Given the description of an element on the screen output the (x, y) to click on. 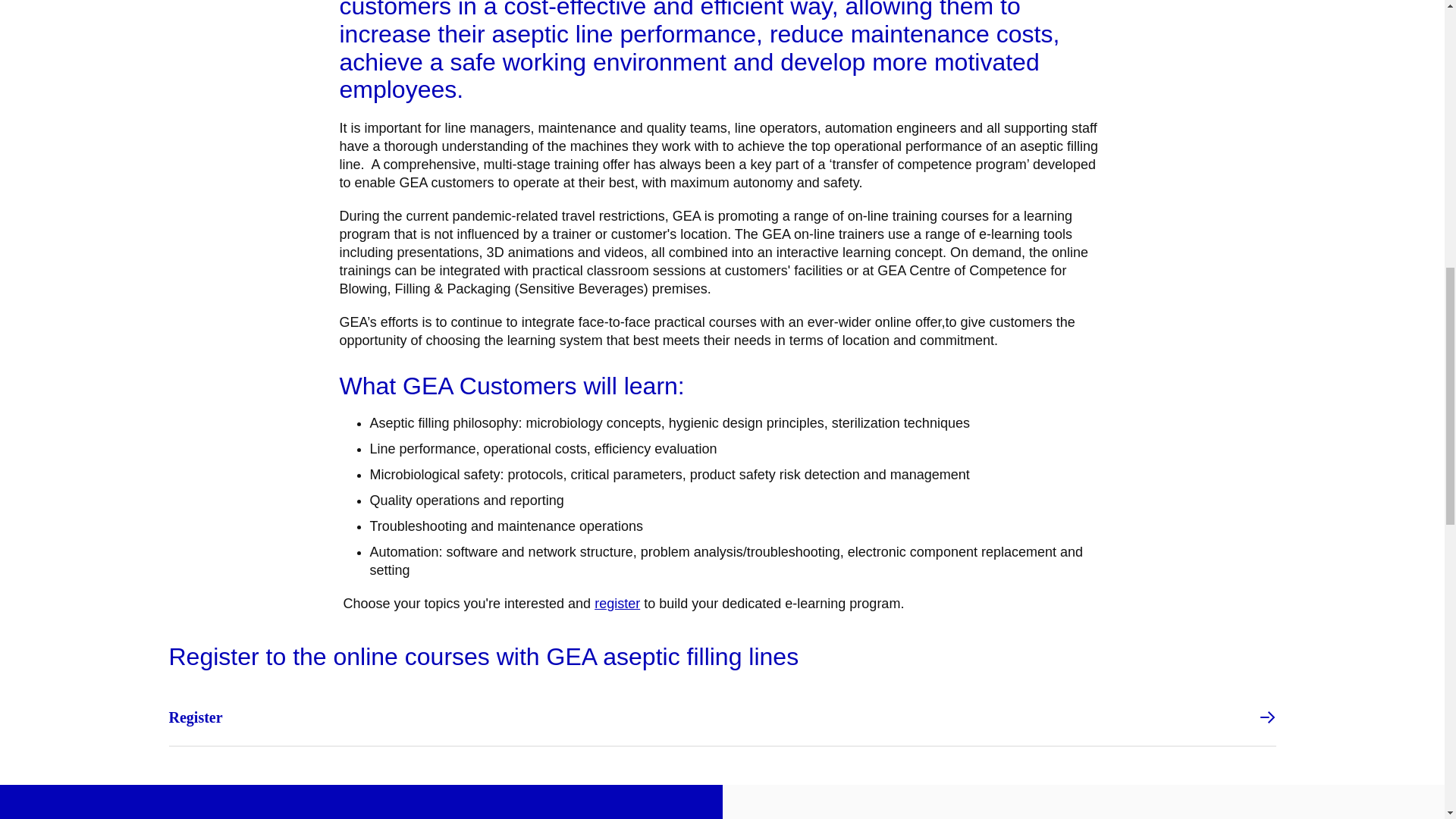
Training (617, 603)
Training (721, 717)
